Given the description of an element on the screen output the (x, y) to click on. 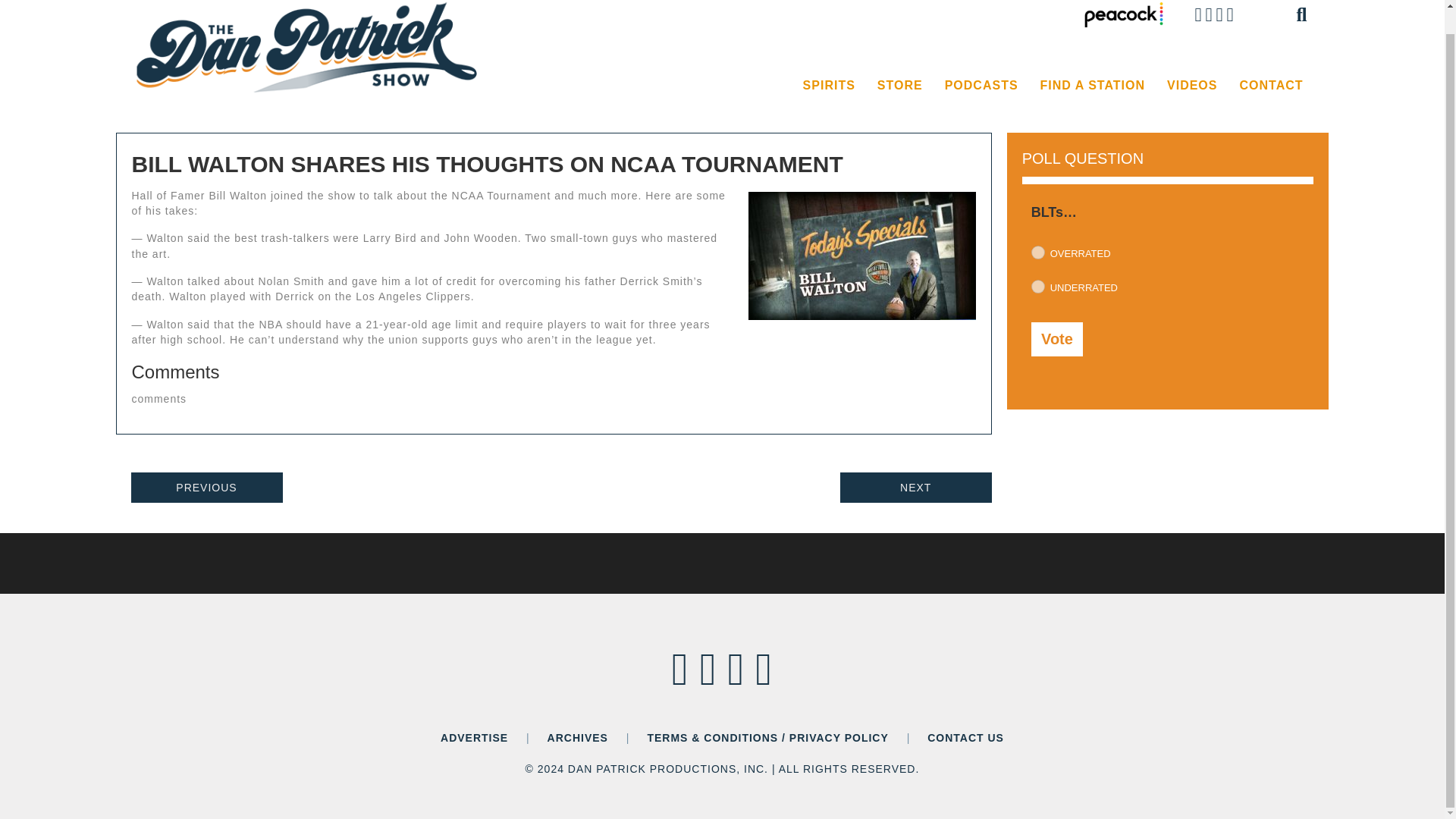
VIDEOS (1191, 85)
CONTACT US (965, 737)
63177633 (1037, 252)
63177634 (1037, 286)
STORE (899, 85)
CONTACT (1270, 85)
SPIRITS (829, 85)
NEXT (915, 487)
FIND A STATION (1092, 85)
logo (309, 47)
